Given the description of an element on the screen output the (x, y) to click on. 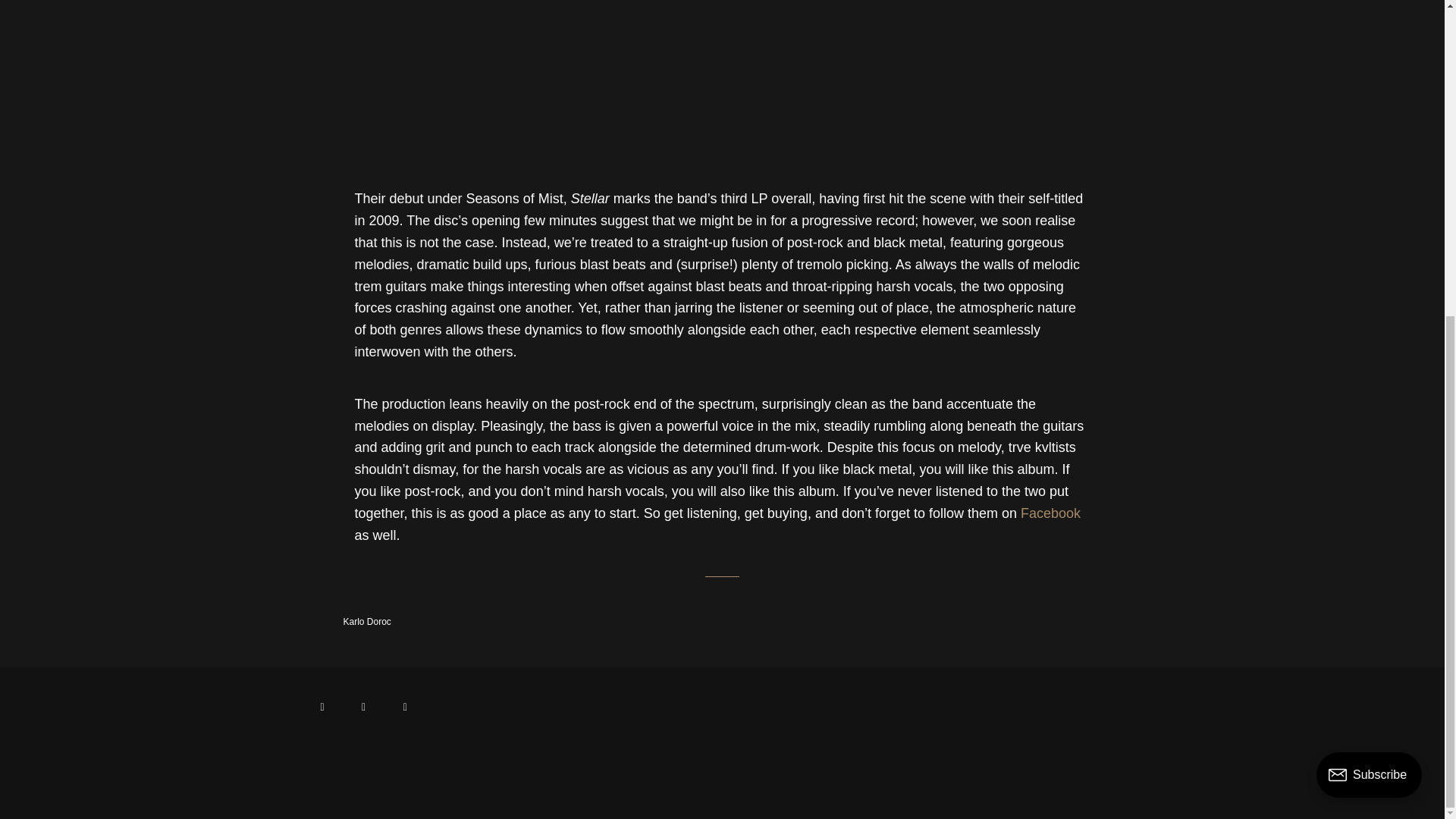
Facebook (1050, 513)
Karlo Doroc (343, 621)
